Given the description of an element on the screen output the (x, y) to click on. 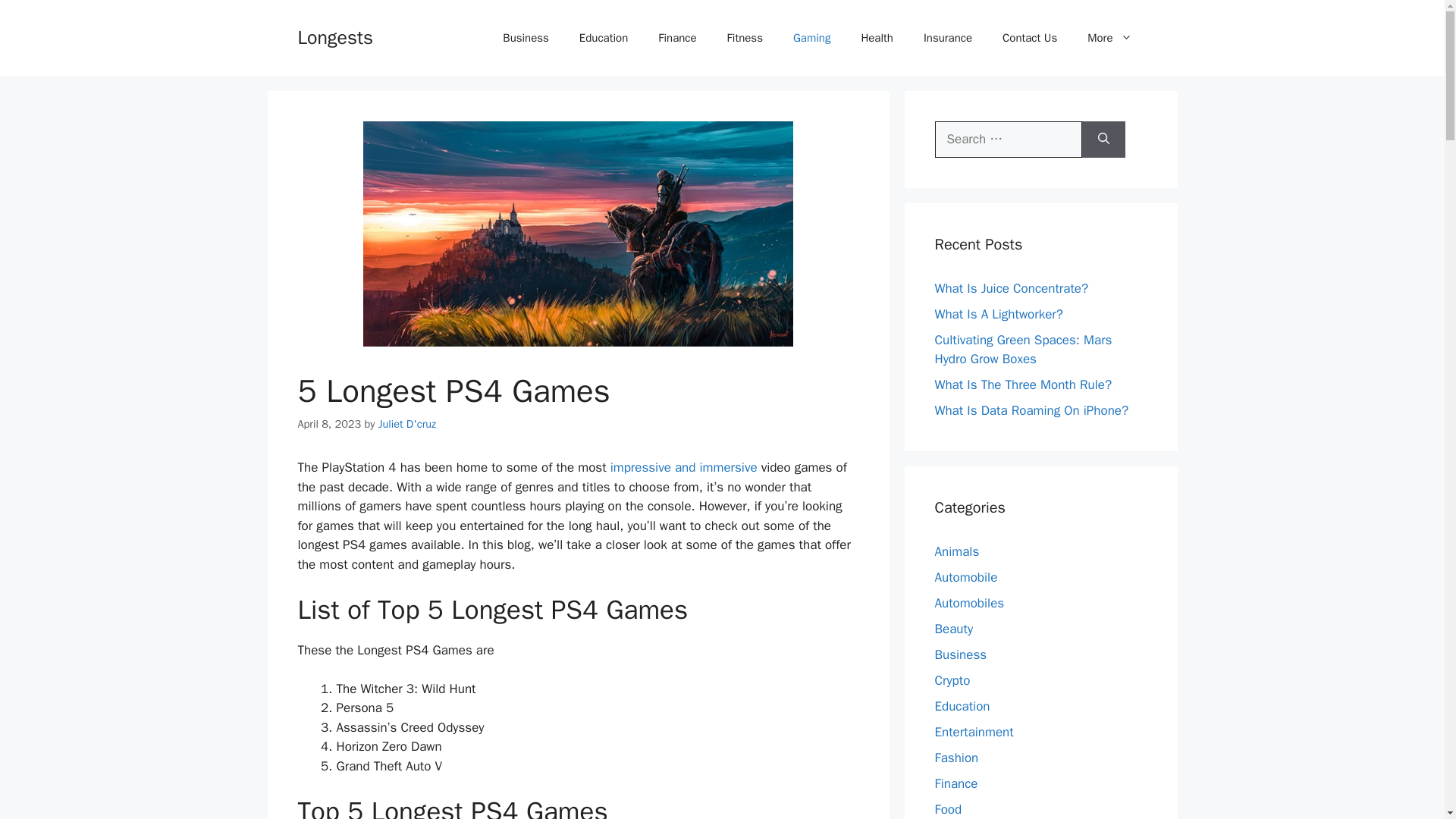
What Is The Three Month Rule? (1023, 384)
Contact Us (1029, 37)
Health (876, 37)
impressive and immersive (683, 467)
Gaming (811, 37)
Automobile (965, 576)
Cultivating Green Spaces: Mars Hydro Grow Boxes (1023, 349)
Longests (334, 37)
Finance (677, 37)
Education (603, 37)
What Is Data Roaming On iPhone? (1031, 410)
View all posts by Juliet D'cruz (406, 423)
Fitness (744, 37)
Search for: (1007, 139)
What Is A Lightworker? (998, 314)
